Given the description of an element on the screen output the (x, y) to click on. 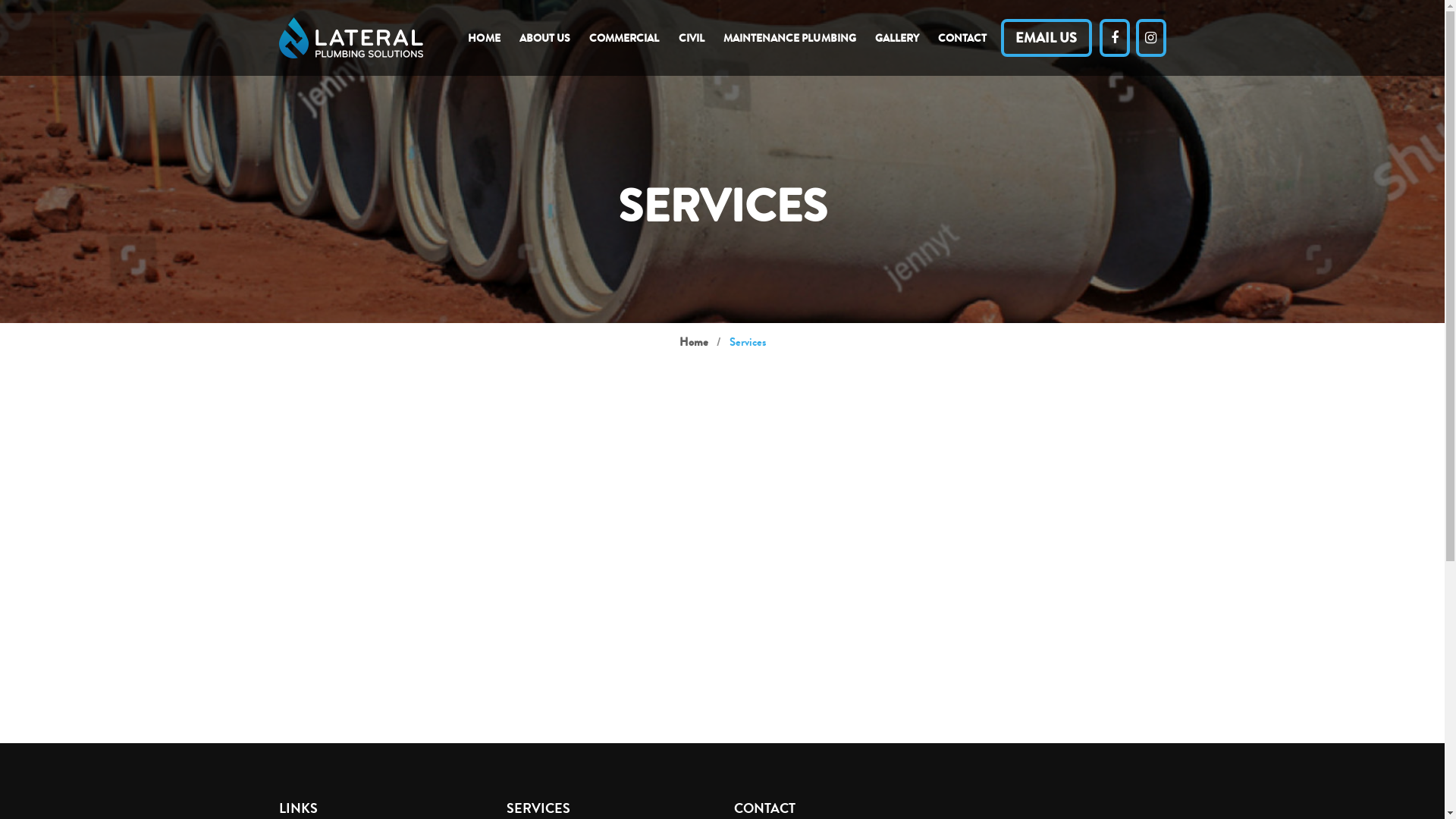
HOME Element type: text (483, 32)
MAINTENANCE PLUMBING Element type: text (789, 32)
EMAIL US Element type: text (1046, 37)
ABOUT US Element type: text (544, 32)
CONTACT Element type: text (962, 32)
CIVIL Element type: text (691, 32)
Lateral Plumbing Element type: hover (351, 35)
GALLERY Element type: text (897, 32)
Home Element type: text (693, 342)
COMMERCIAL Element type: text (624, 32)
